Given the description of an element on the screen output the (x, y) to click on. 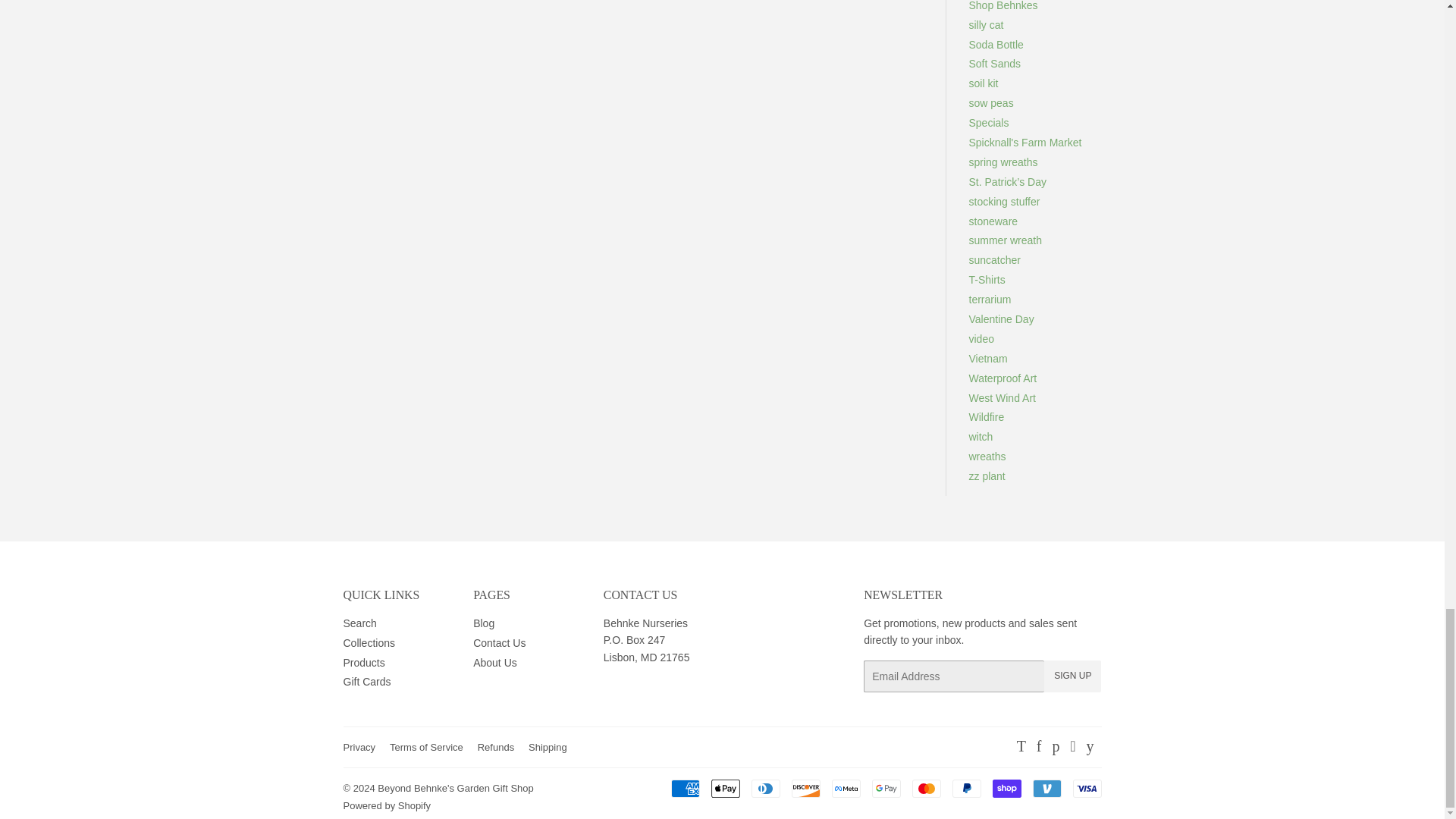
Shop Pay (1005, 788)
Visa (1085, 788)
Discover (806, 788)
PayPal (966, 788)
Diners Club (764, 788)
American Express (683, 788)
Meta Pay (845, 788)
Venmo (1046, 788)
Mastercard (925, 788)
Google Pay (886, 788)
Apple Pay (725, 788)
